Given the description of an element on the screen output the (x, y) to click on. 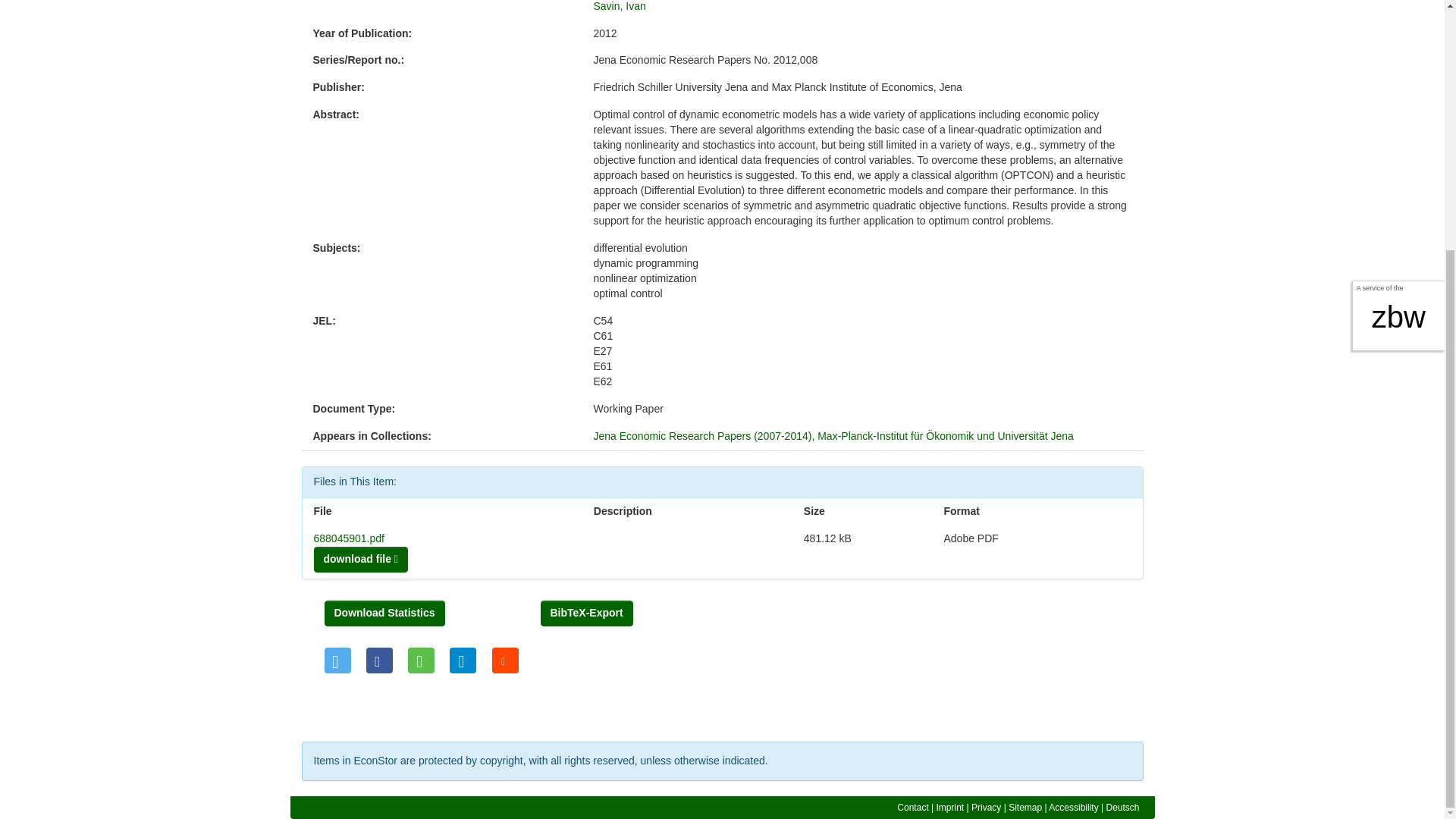
Bei Telegram teilen (462, 660)
Bei Reddit teilen (505, 660)
Bei Facebook teilen (379, 660)
Bei Twitter teilen (337, 660)
Bei Whatsapp teilen (420, 660)
